Given the description of an element on the screen output the (x, y) to click on. 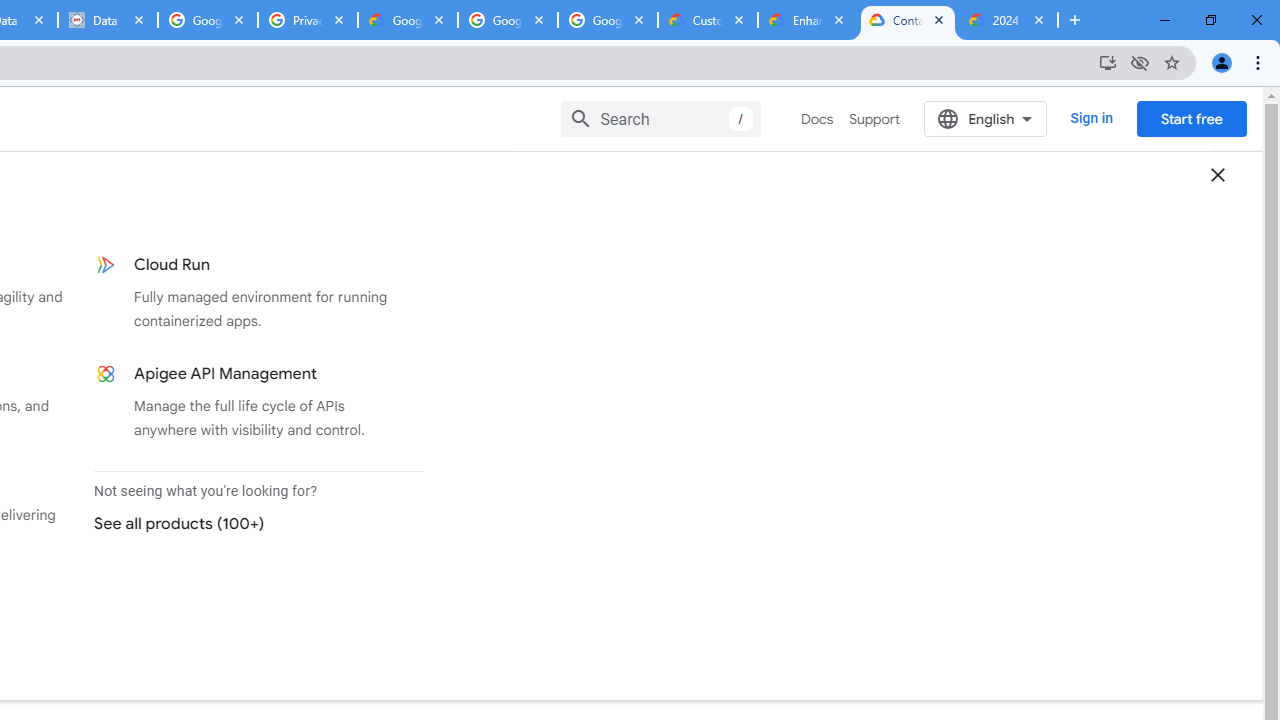
Install Google Cloud (1107, 62)
Data Privacy Framework (107, 20)
Google Workspace - Specific Terms (508, 20)
English (985, 118)
Docs (817, 119)
Close dropdown menu (1217, 174)
Google Cloud Terms Directory | Google Cloud (408, 20)
Start free (1191, 118)
Support (874, 119)
